Given the description of an element on the screen output the (x, y) to click on. 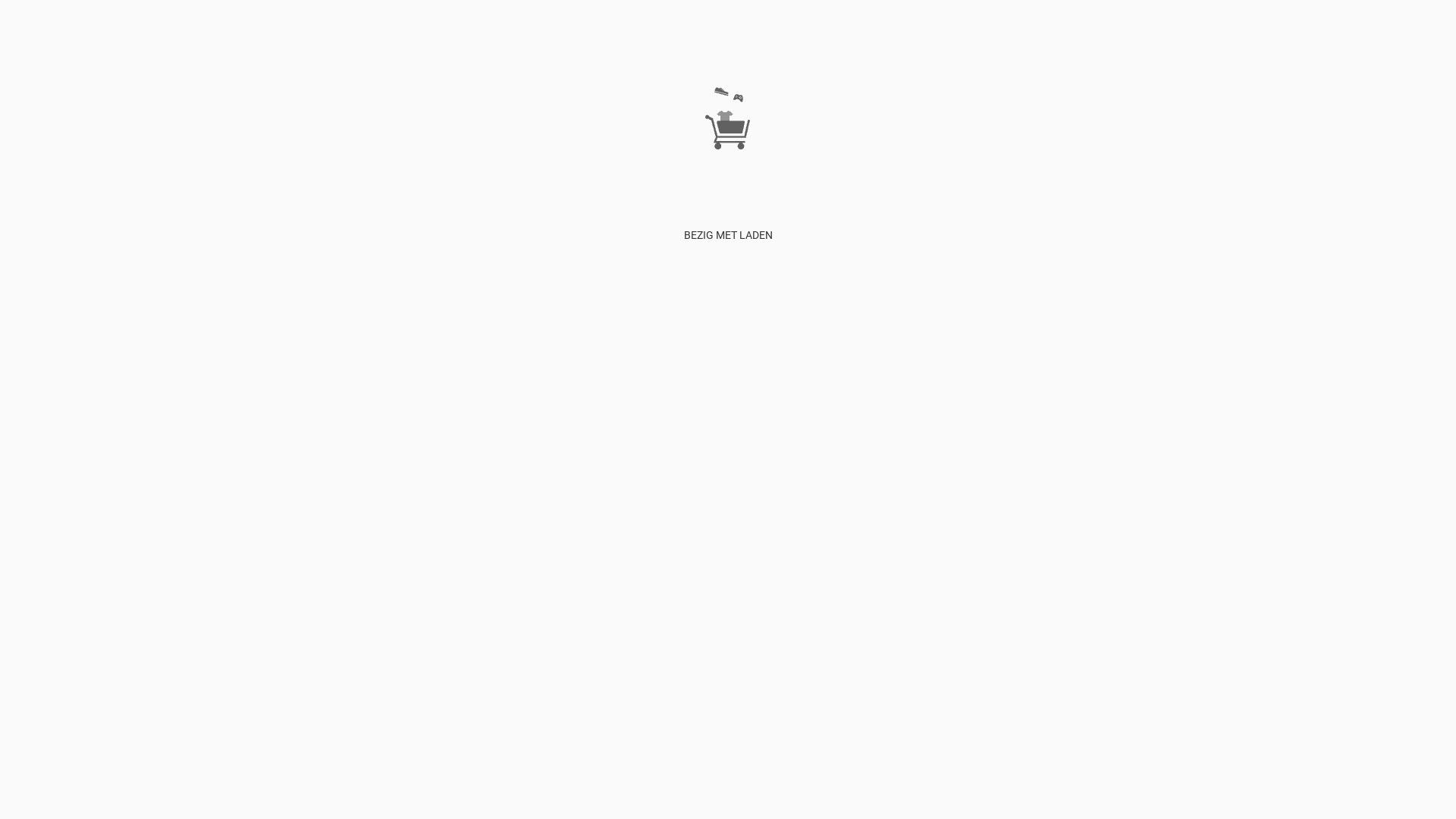
Verkennen Element type: text (55, 382)
Mijn Account Element type: text (188, 382)
Retourdocument Element type: text (1308, 382)
www.calmani.be Element type: text (1226, 382)
Unisex Element type: text (471, 382)
Home Element type: text (14, 382)
Checkout Element type: text (310, 382)
ACCESSOIRES Element type: text (608, 382)
Disclaimer Element type: text (130, 382)
CADEAUBON Element type: text (541, 382)
KLEDING Element type: text (357, 382)
KLEDING NOS Element type: text (678, 382)
Kinderen Element type: text (433, 382)
Winkelmandje Element type: text (253, 382)
113 Element type: text (498, 382)
Over Element type: text (93, 382)
Heren Element type: text (396, 382)
